Given the description of an element on the screen output the (x, y) to click on. 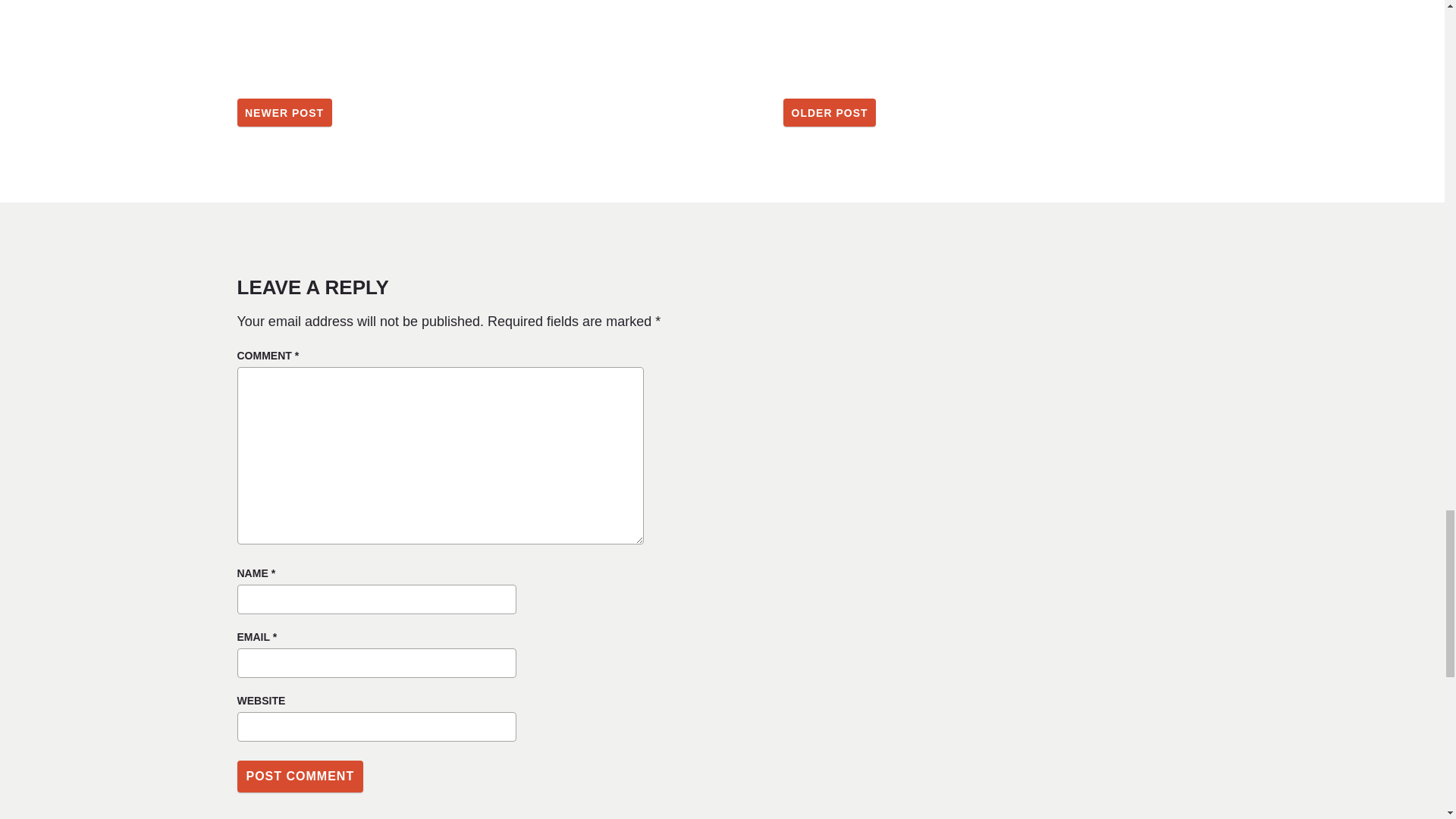
Post Comment (298, 775)
